Given the description of an element on the screen output the (x, y) to click on. 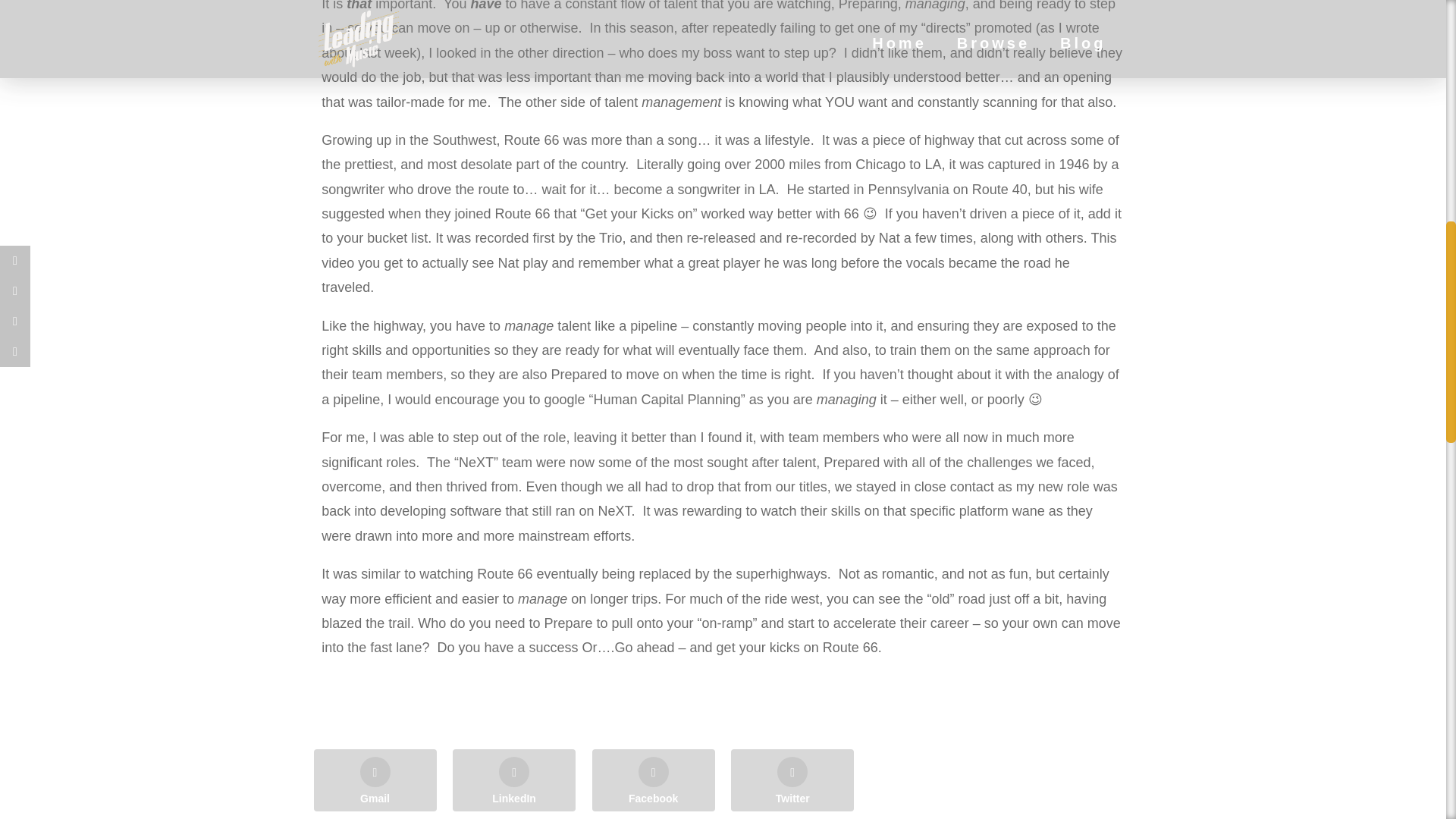
Twitter (791, 780)
LinkedIn (513, 780)
Gmail (375, 780)
Facebook (653, 780)
